Given the description of an element on the screen output the (x, y) to click on. 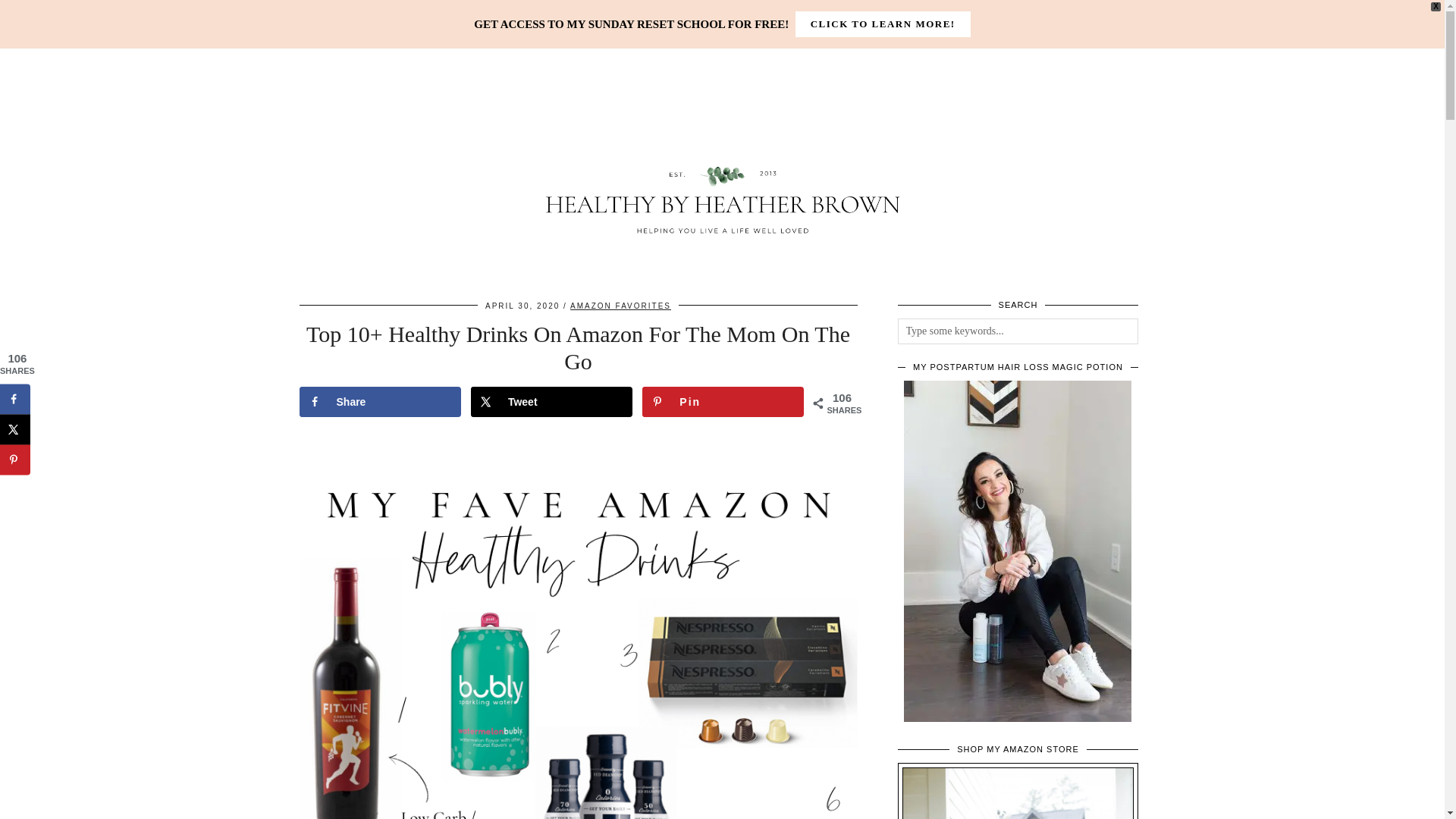
PODCAST (775, 14)
Healthy By Heather Brown (721, 181)
CLICK TO LEARN MORE! (882, 23)
Tweet (550, 401)
MEMBERSHIP (679, 14)
HEALTHY LIFESTYLE (559, 14)
AMAZON FAVORITES (620, 306)
ABOUT (395, 14)
Share on Facebook (379, 401)
SHOP (459, 14)
